Given the description of an element on the screen output the (x, y) to click on. 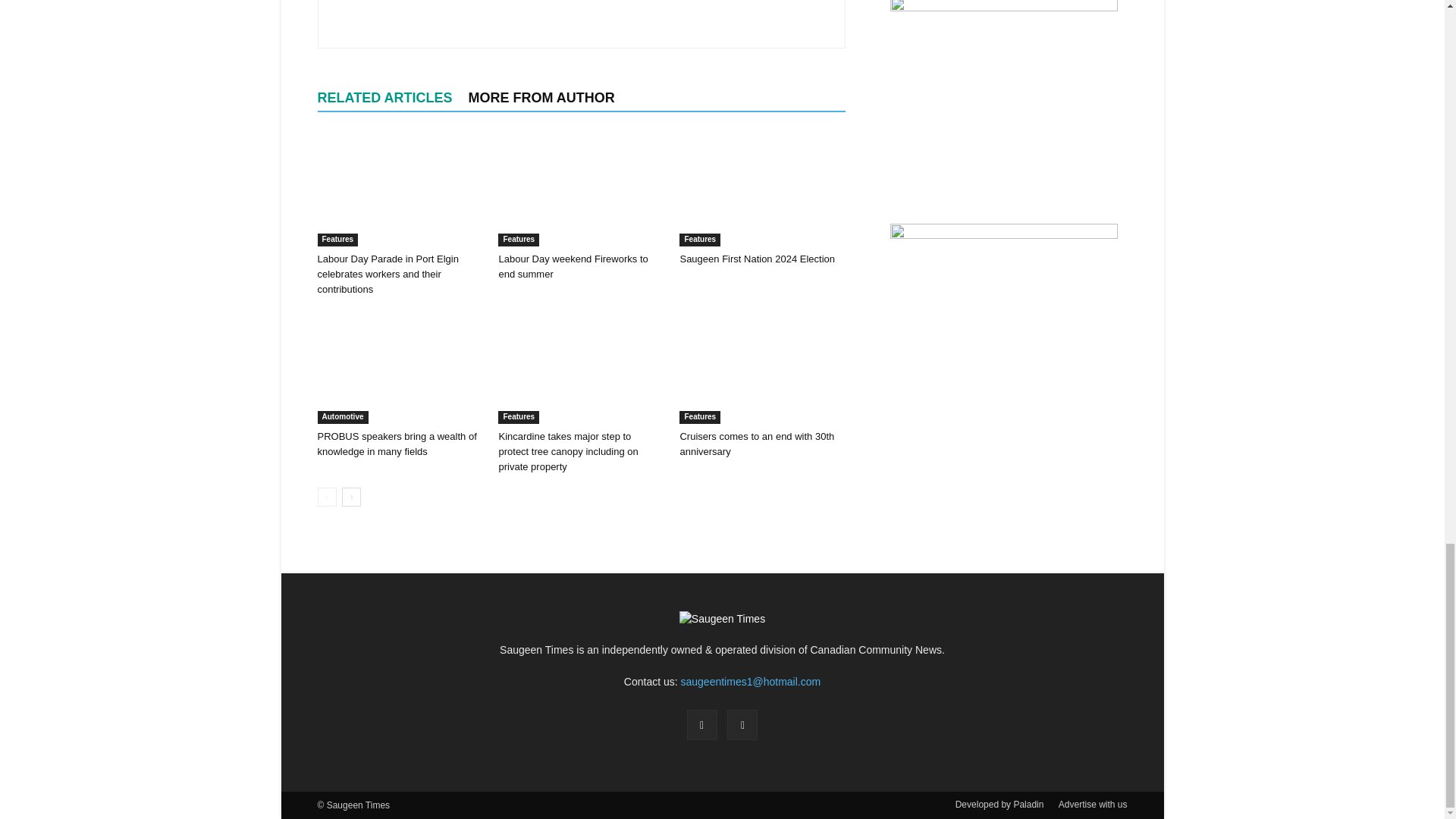
Labour Day weekend Fireworks to end summer (580, 189)
